Given the description of an element on the screen output the (x, y) to click on. 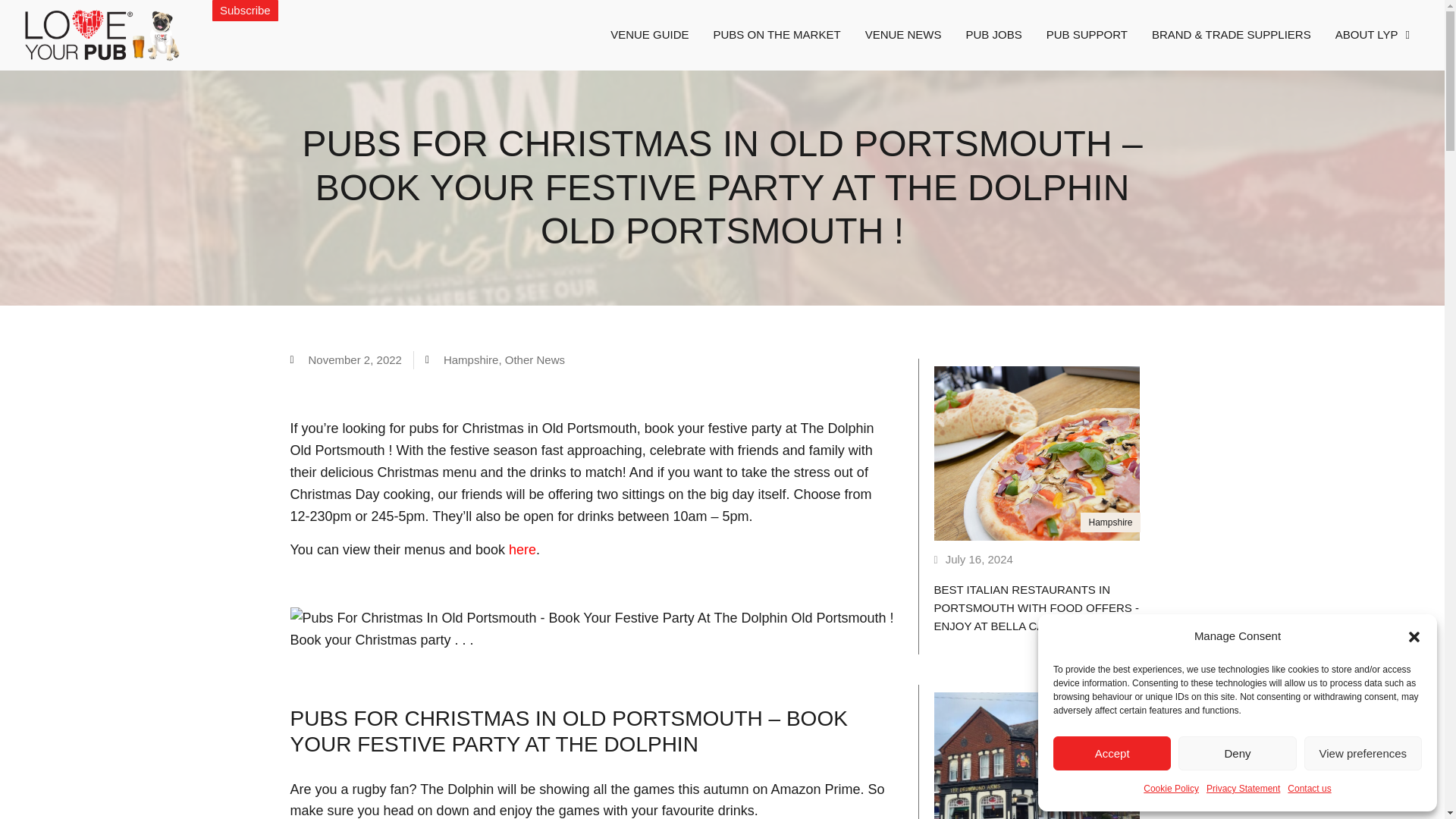
ABOUT LYP (1372, 34)
VENUE NEWS (903, 34)
View preferences (1363, 753)
Privacy Statement (1243, 789)
Subscribe (245, 10)
VENUE GUIDE (649, 34)
Contact us (1308, 789)
Cookie Policy (1170, 789)
PUB SUPPORT (1086, 34)
Deny (1236, 753)
Accept (1111, 753)
PUBS ON THE MARKET (777, 34)
PUB JOBS (993, 34)
